Given the description of an element on the screen output the (x, y) to click on. 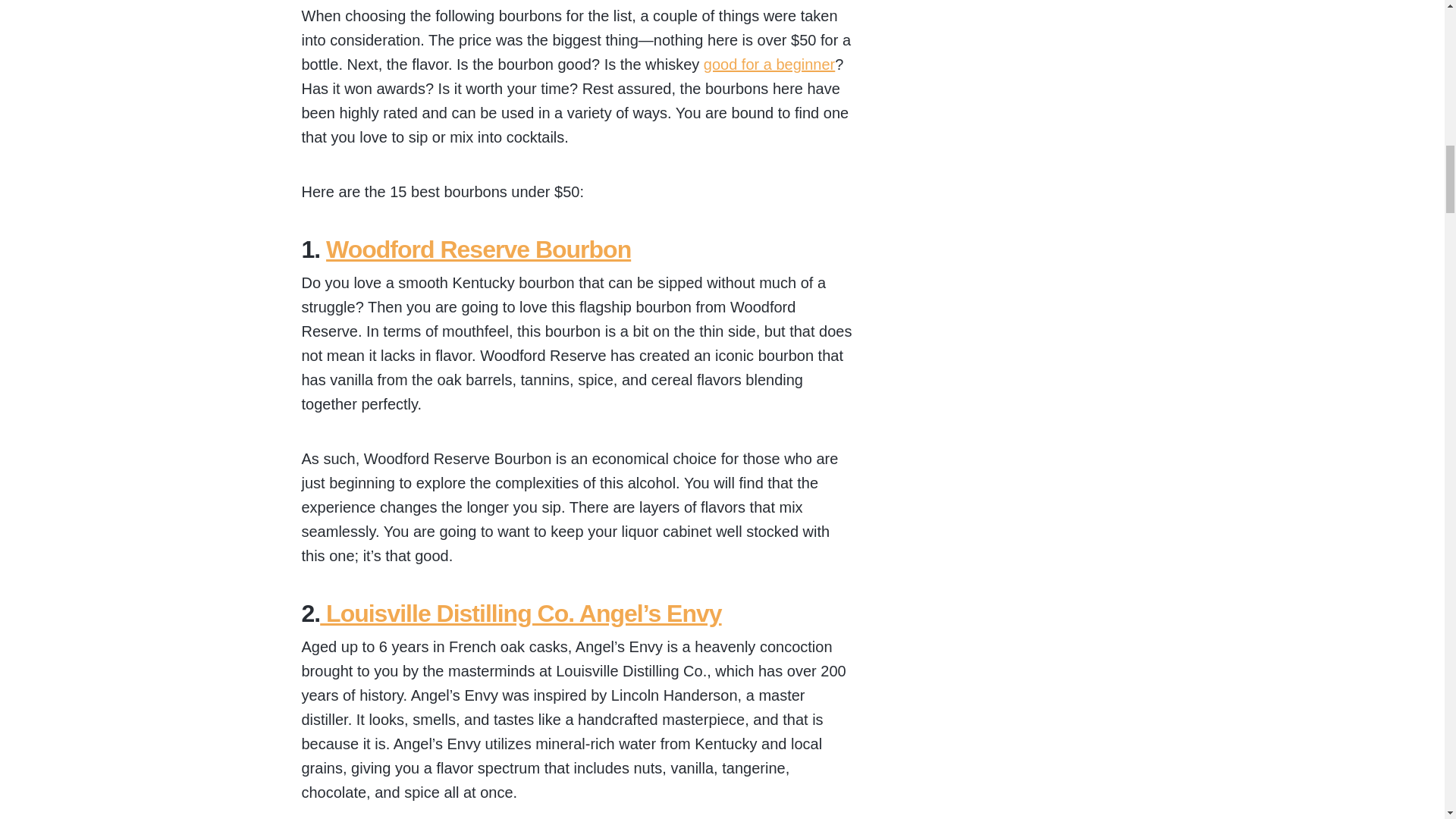
good for a beginner (768, 64)
Woodford Reserve Bourbon (478, 248)
